Given the description of an element on the screen output the (x, y) to click on. 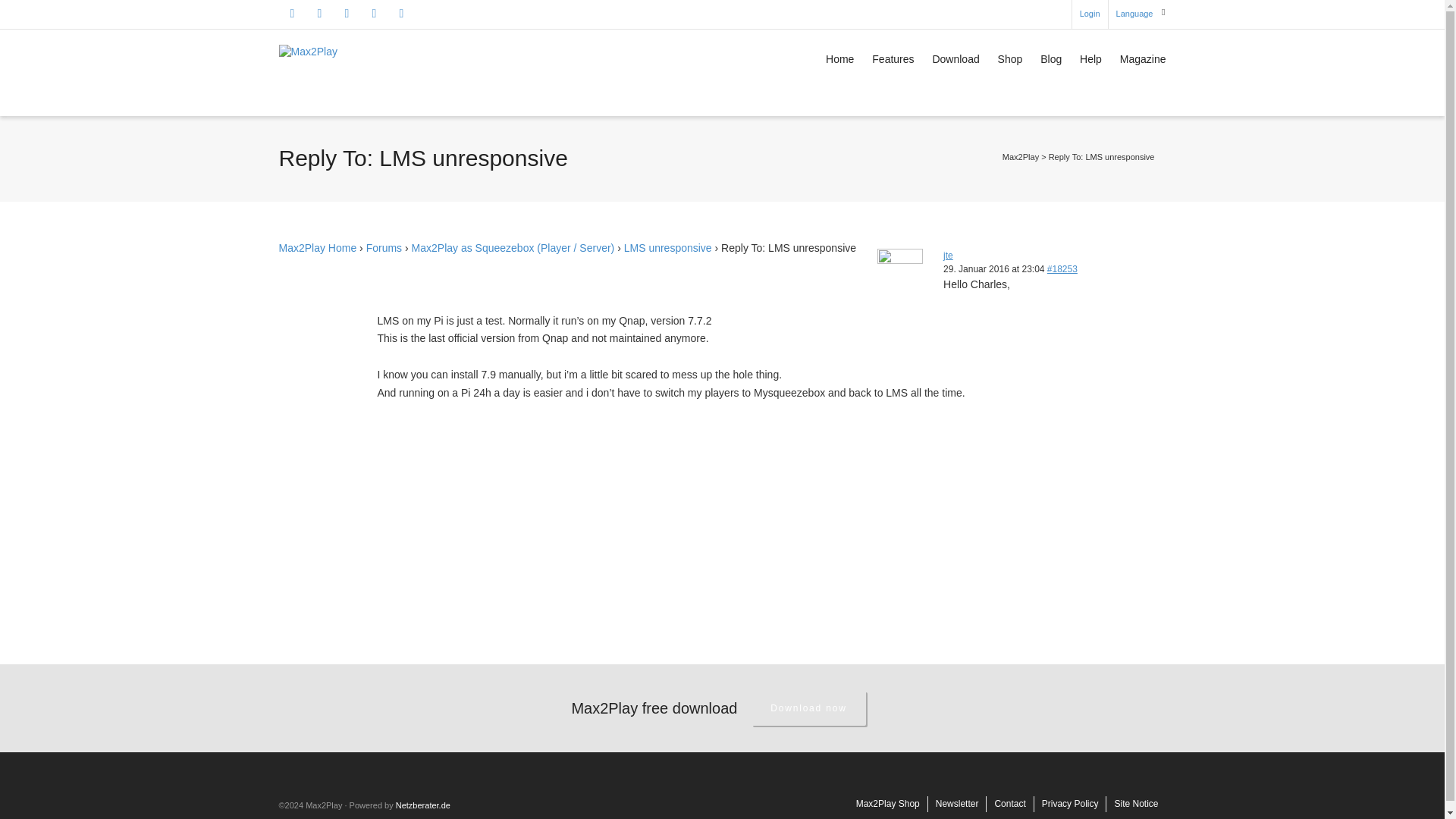
Reply To: LMS unresponsive (1061, 268)
View jte's profile (948, 255)
Features (893, 60)
Language (1134, 14)
Gehe zu Max2Play. (1021, 156)
